Given the description of an element on the screen output the (x, y) to click on. 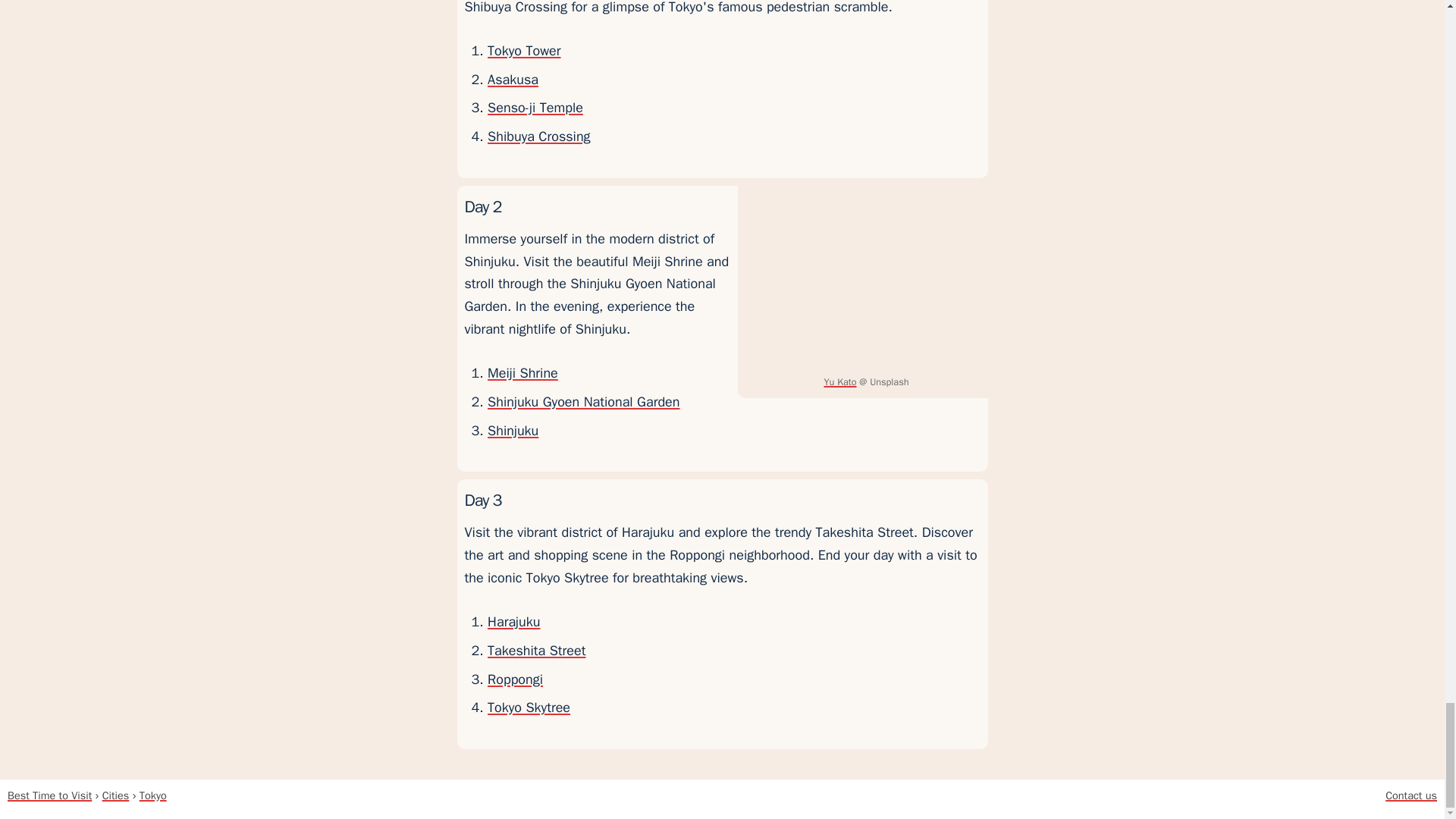
Takeshita Street (536, 650)
Meiji Shrine (522, 372)
Tokyo Skytree (528, 707)
Shinjuku Gyoen National Garden (583, 401)
Shibuya Crossing (539, 135)
Contact us (1411, 795)
Cities (115, 795)
Yu Kato (840, 381)
Best Time to Visit (49, 795)
Roppongi (515, 678)
Senso-ji Temple (535, 107)
Tokyo (153, 795)
Shinjuku (512, 430)
Harajuku (513, 621)
Asakusa (512, 79)
